Given the description of an element on the screen output the (x, y) to click on. 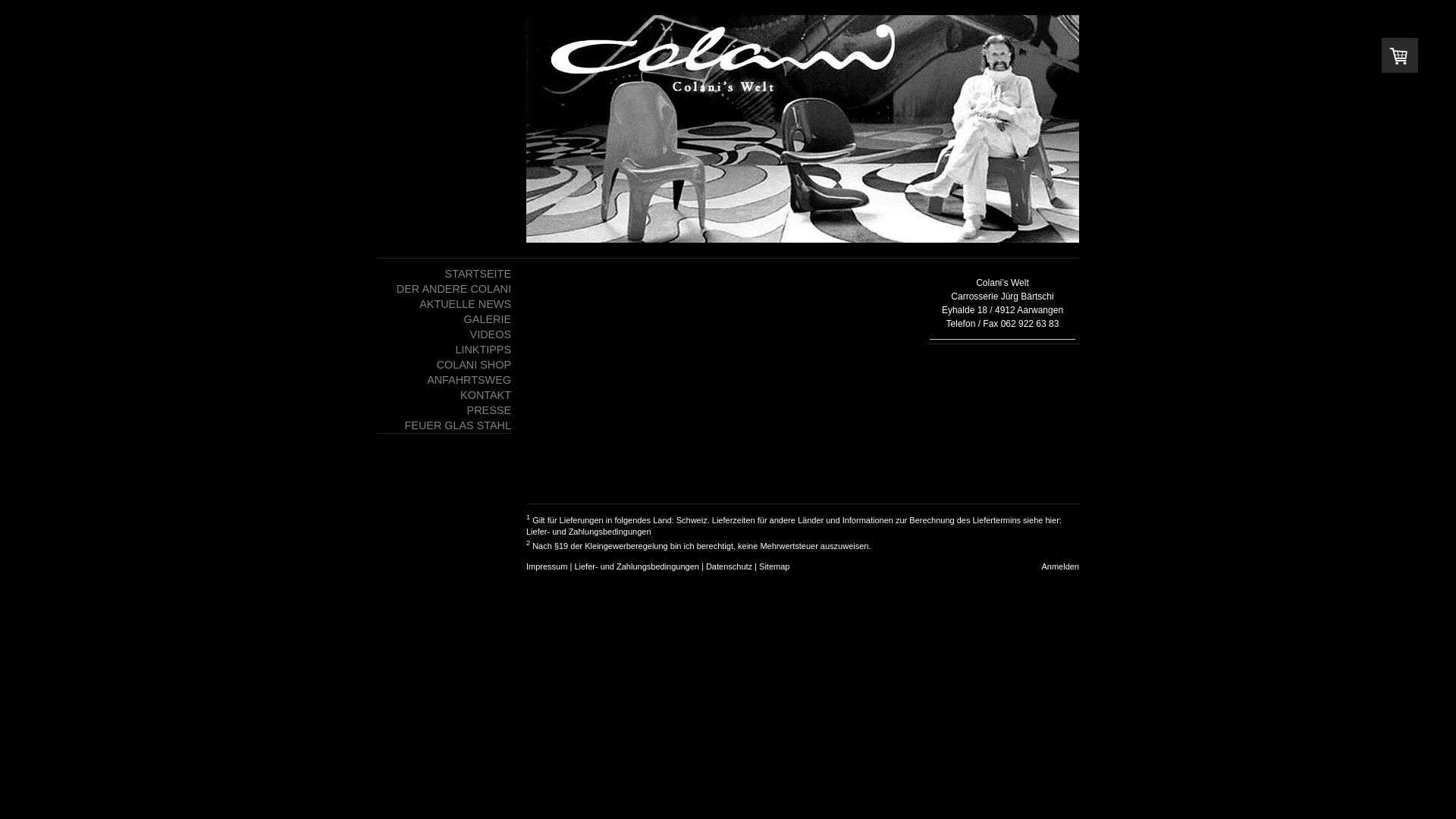
Sitemap Element type: text (774, 566)
FEUER GLAS STAHL Element type: text (443, 425)
DER ANDERE COLANI Element type: text (443, 288)
Datenschutz Element type: text (729, 566)
Impressum Element type: text (546, 566)
Anmelden Element type: text (1060, 566)
KONTAKT Element type: text (443, 394)
ANFAHRTSWEG Element type: text (443, 379)
PRESSE Element type: text (443, 409)
AKTUELLE NEWS Element type: text (443, 303)
LINKTIPPS Element type: text (443, 349)
Liefer- und Zahlungsbedingungen Element type: text (588, 531)
STARTSEITE Element type: text (443, 273)
VIDEOS Element type: text (443, 334)
Liefer- und Zahlungsbedingungen Element type: text (636, 566)
GALERIE Element type: text (443, 318)
COLANI SHOP Element type: text (443, 364)
